Given the description of an element on the screen output the (x, y) to click on. 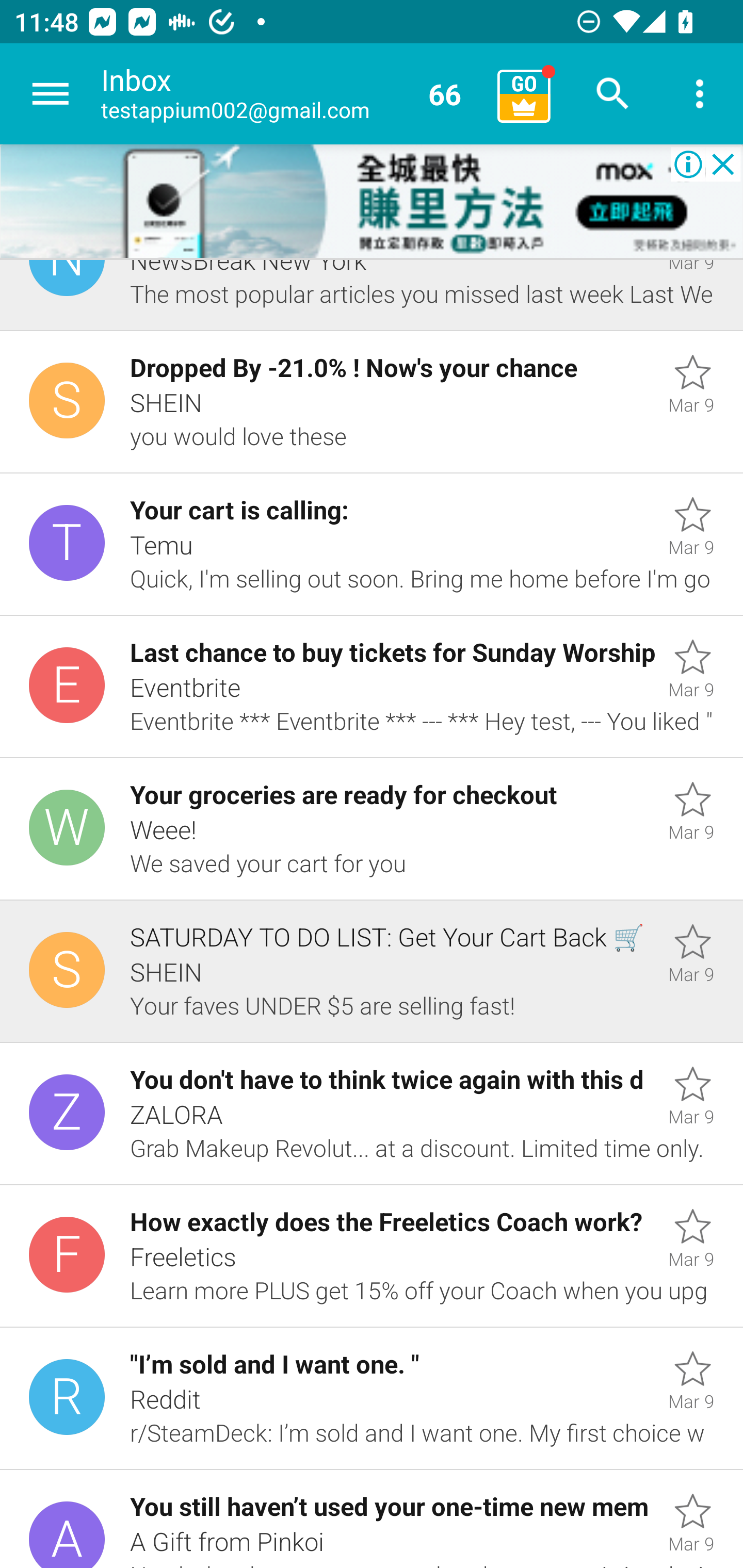
Navigate up (50, 93)
Inbox testappium002@gmail.com 66 (291, 93)
Search (612, 93)
More options (699, 93)
Advertisement (371, 202)
